Given the description of an element on the screen output the (x, y) to click on. 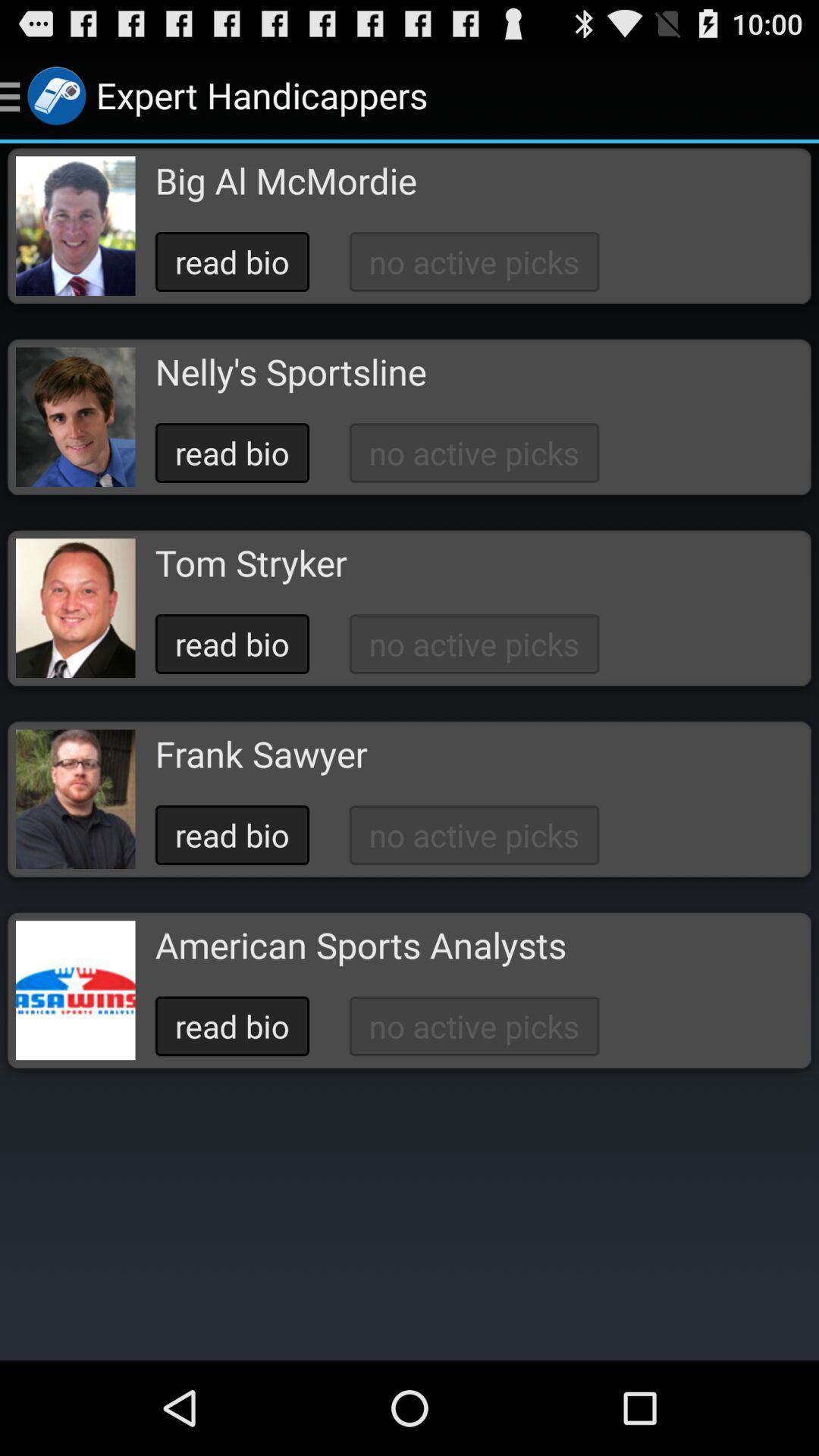
select item above the read bio icon (290, 371)
